Given the description of an element on the screen output the (x, y) to click on. 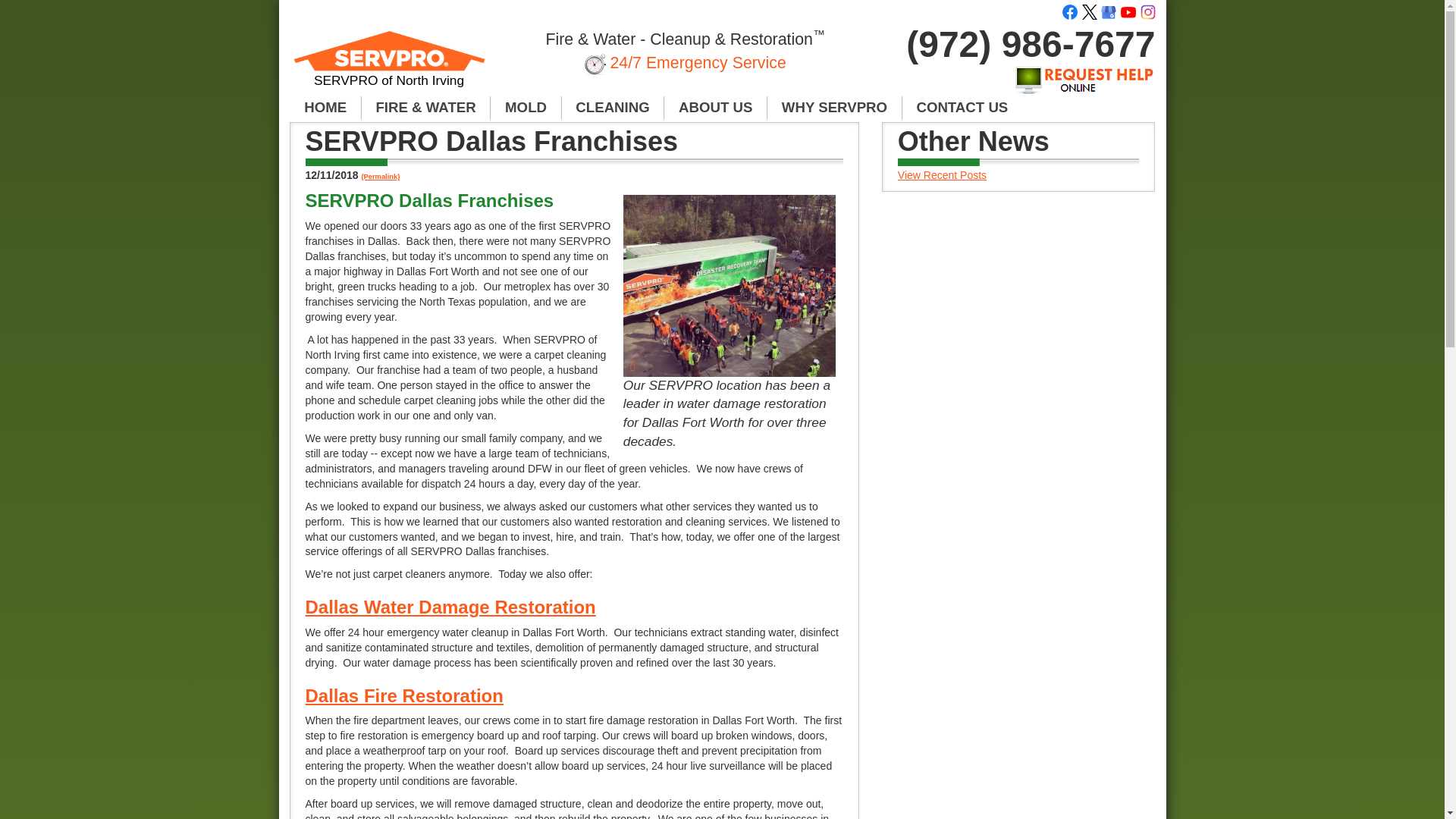
MOLD (525, 108)
SERVPRO Dallas Fire Restoration (403, 695)
SERVPRO Dallas Water Damage Restoration (449, 607)
CLEANING (613, 108)
HOME (325, 108)
SERVPRO of North Irving (389, 65)
ABOUT US (715, 108)
